Given the description of an element on the screen output the (x, y) to click on. 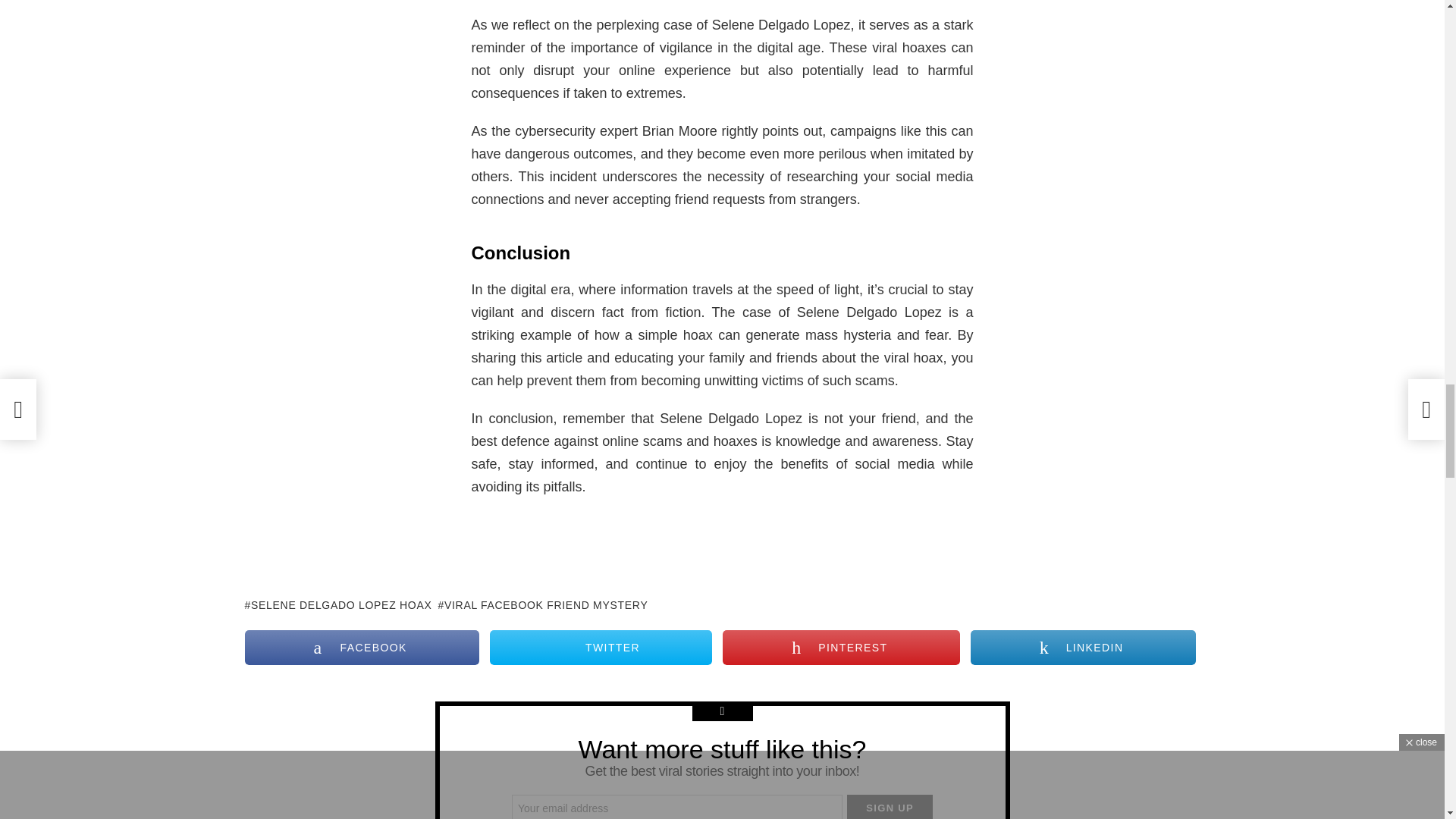
FACEBOOK (361, 647)
Sign up (890, 806)
VIRAL FACEBOOK FRIEND MYSTERY (542, 604)
LINKEDIN (1083, 647)
SELENE DELGADO LOPEZ HOAX (337, 604)
TWITTER (600, 647)
Sign up (890, 806)
PINTEREST (840, 647)
